Given the description of an element on the screen output the (x, y) to click on. 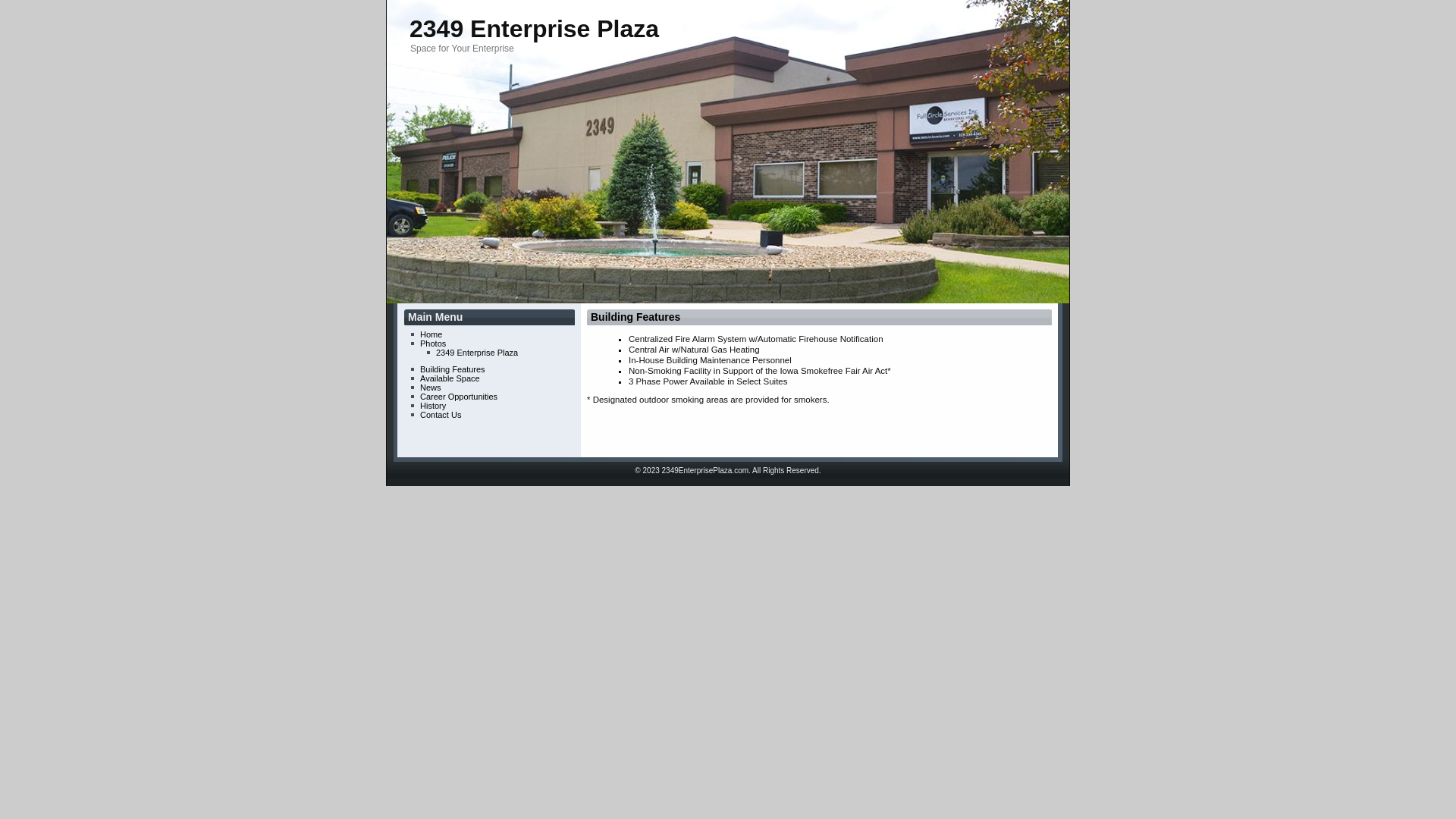
2349 Enterprise Plaza Element type: text (476, 352)
Career Opportunities Element type: text (458, 396)
2349 Enterprise Plaza Element type: text (533, 28)
History Element type: text (432, 405)
Building Features Element type: text (452, 368)
News Element type: text (430, 387)
Home Element type: text (431, 333)
Building Features Element type: text (635, 316)
Available Space Element type: text (450, 377)
Contact Us Element type: text (440, 414)
Photos Element type: text (432, 343)
